Given the description of an element on the screen output the (x, y) to click on. 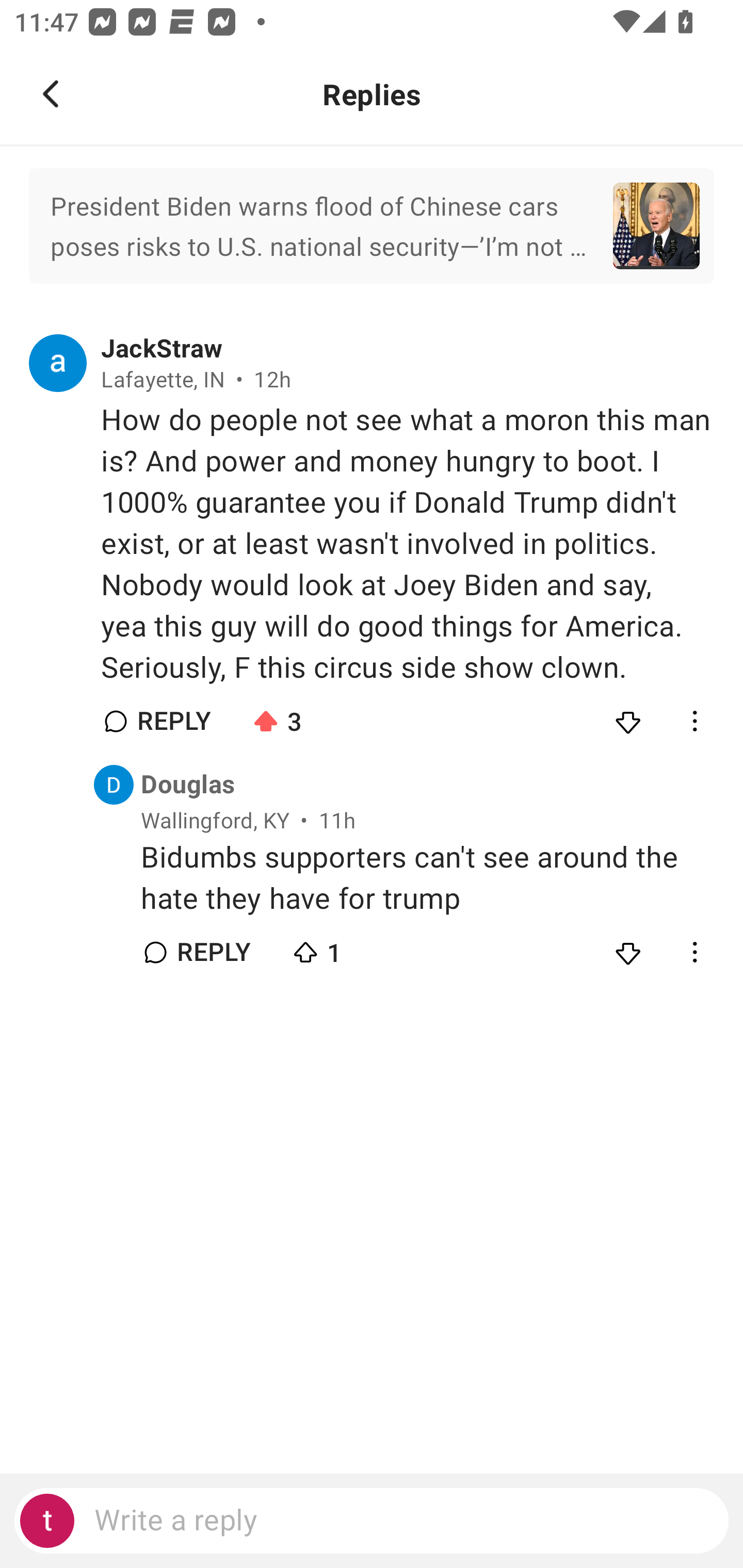
Navigate up (50, 93)
JackStraw (161, 348)
3 (320, 717)
REPLY (173, 721)
Douglas (188, 784)
1 (360, 947)
REPLY (213, 952)
Write a reply (371, 1520)
